Given the description of an element on the screen output the (x, y) to click on. 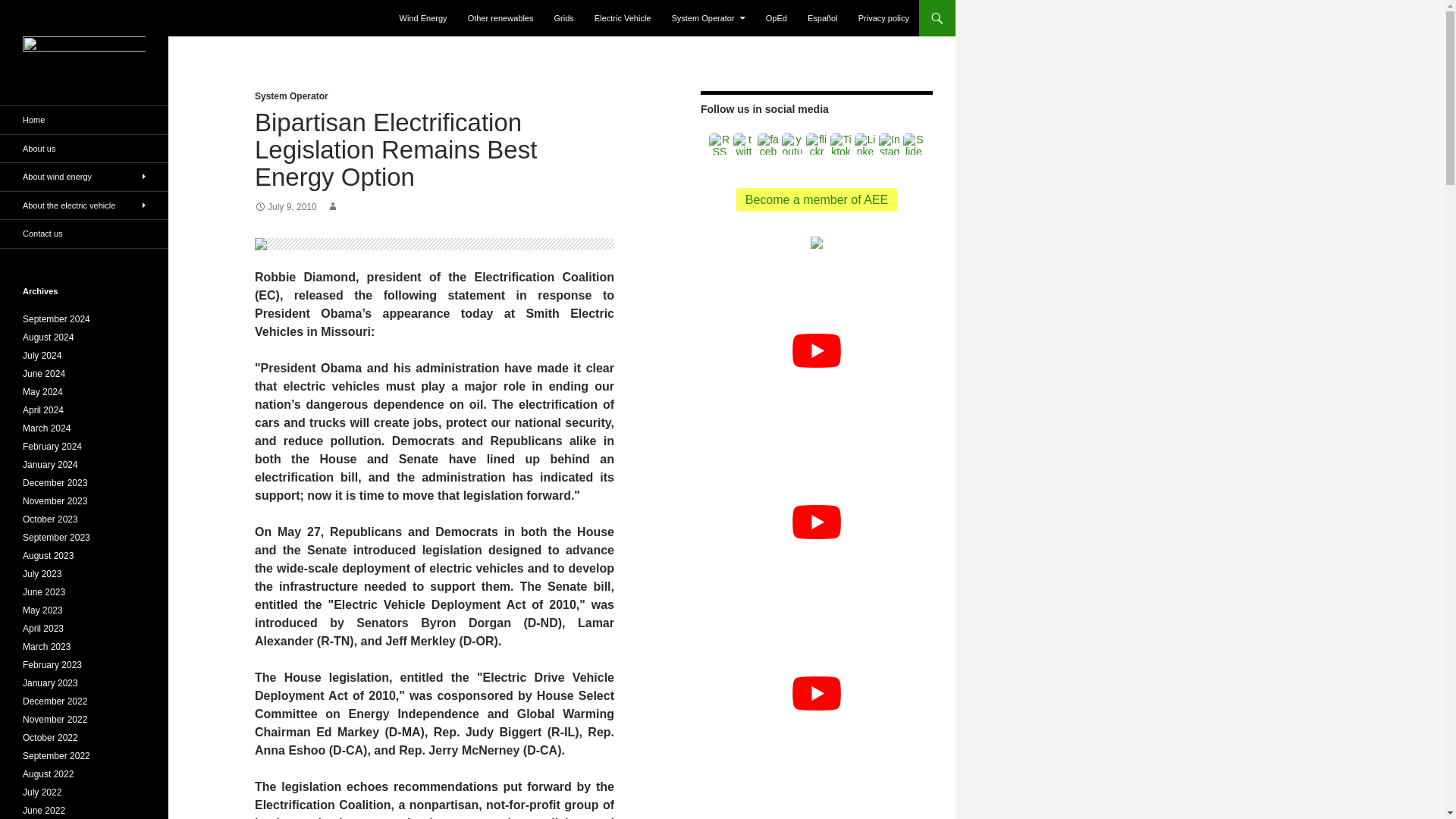
facebook (767, 143)
Tiktok (840, 143)
Become a member of AEE (817, 199)
Other renewables (500, 18)
System Operator (708, 18)
Grids (563, 18)
Wind Energy (423, 18)
LinkedIn (865, 143)
youtube (792, 143)
flickr (816, 143)
